Given the description of an element on the screen output the (x, y) to click on. 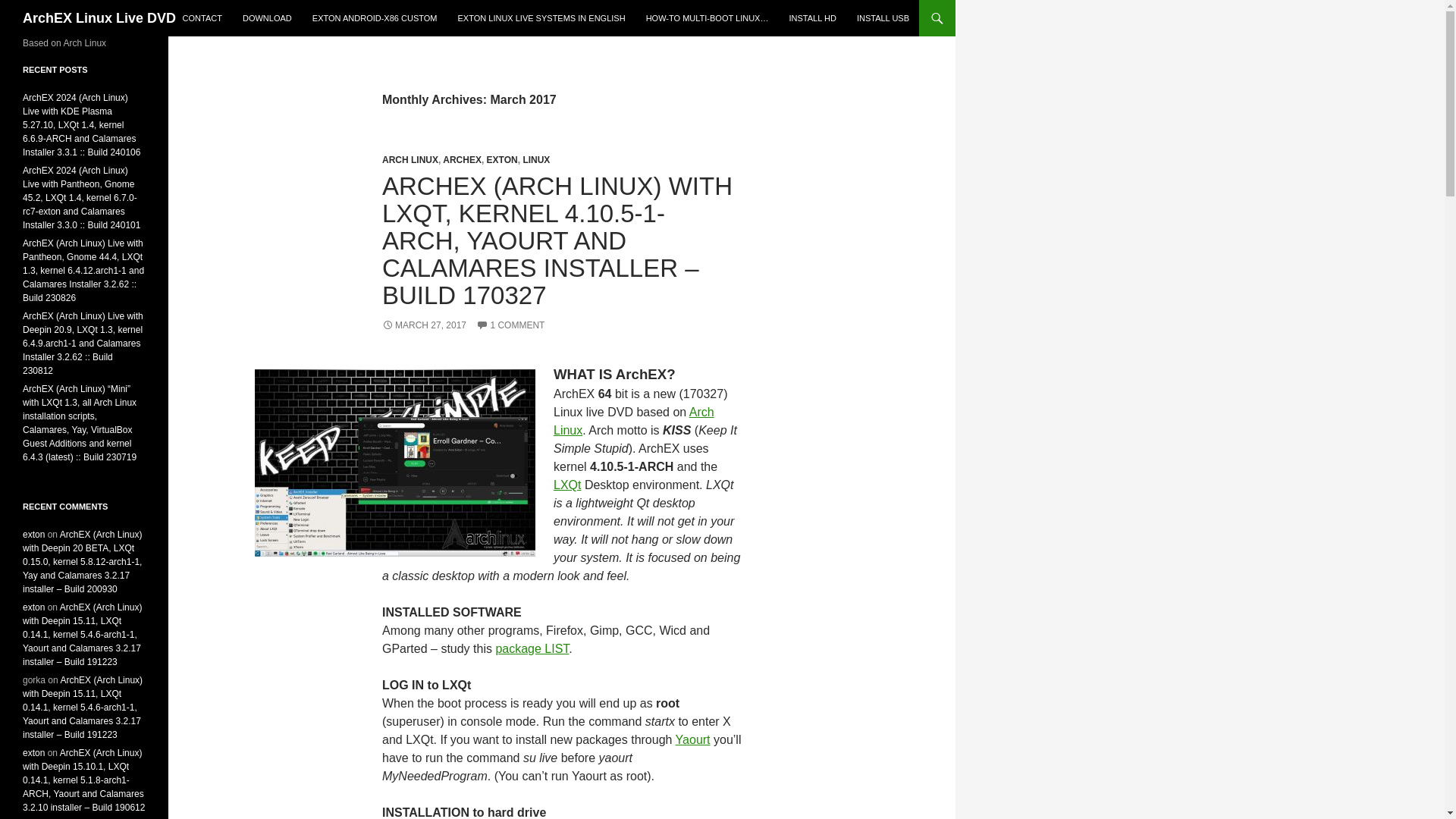
ARCH LINUX (409, 159)
ArchEX Linux Live DVD (99, 18)
1 COMMENT (510, 325)
CONTACT (202, 18)
EXTON LINUX LIVE SYSTEMS IN ENGLISH (541, 18)
LXQt (566, 484)
EXTON ANDROID-X86 CUSTOM (374, 18)
EXTON (502, 159)
package LIST (532, 648)
INSTALL HD (811, 18)
INSTALL USB (882, 18)
Yaourt (692, 739)
Arch Linux (633, 420)
ARCHEX (461, 159)
MARCH 27, 2017 (423, 325)
